Given the description of an element on the screen output the (x, y) to click on. 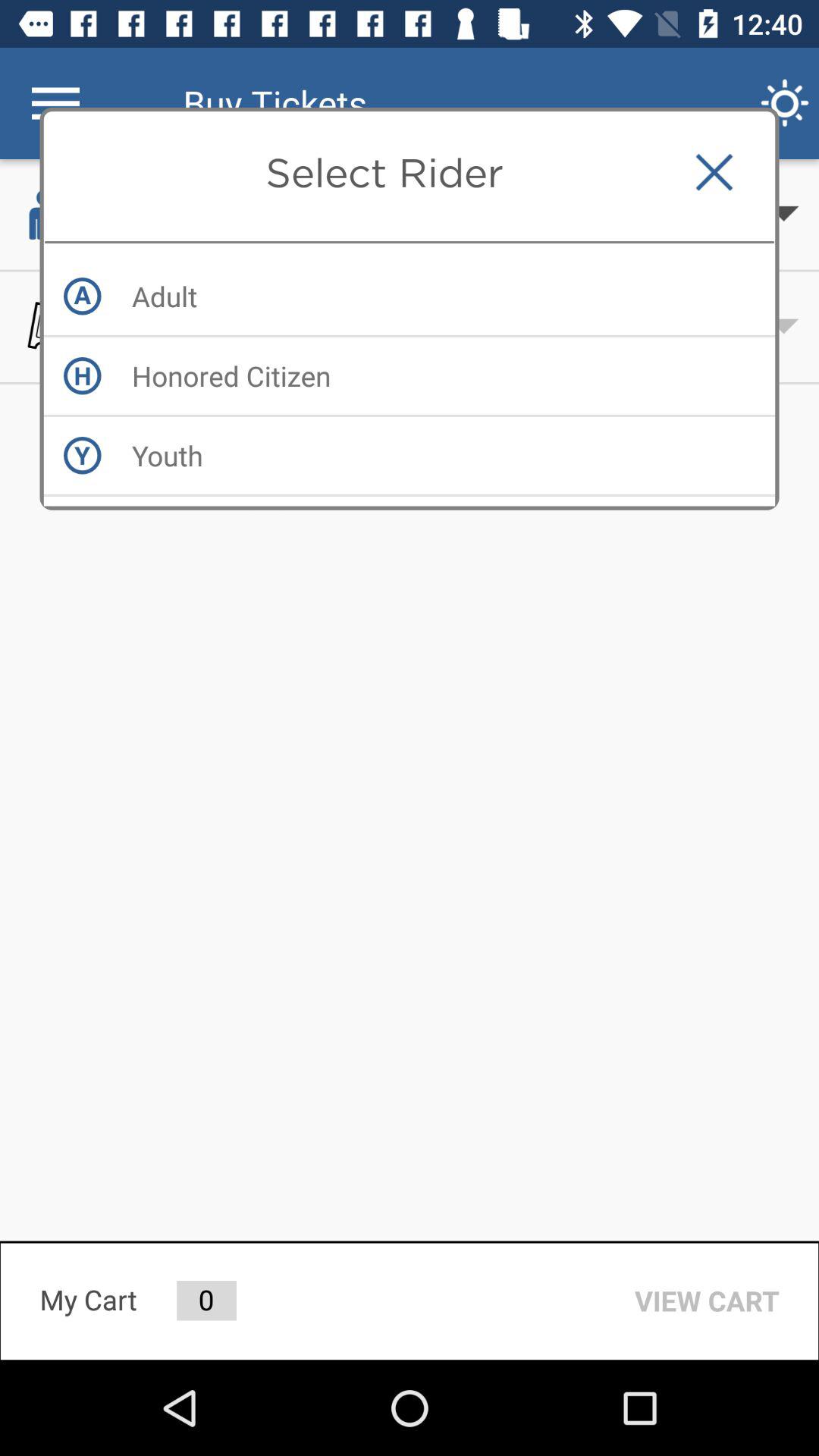
turn on the item next to the select rider (714, 172)
